Given the description of an element on the screen output the (x, y) to click on. 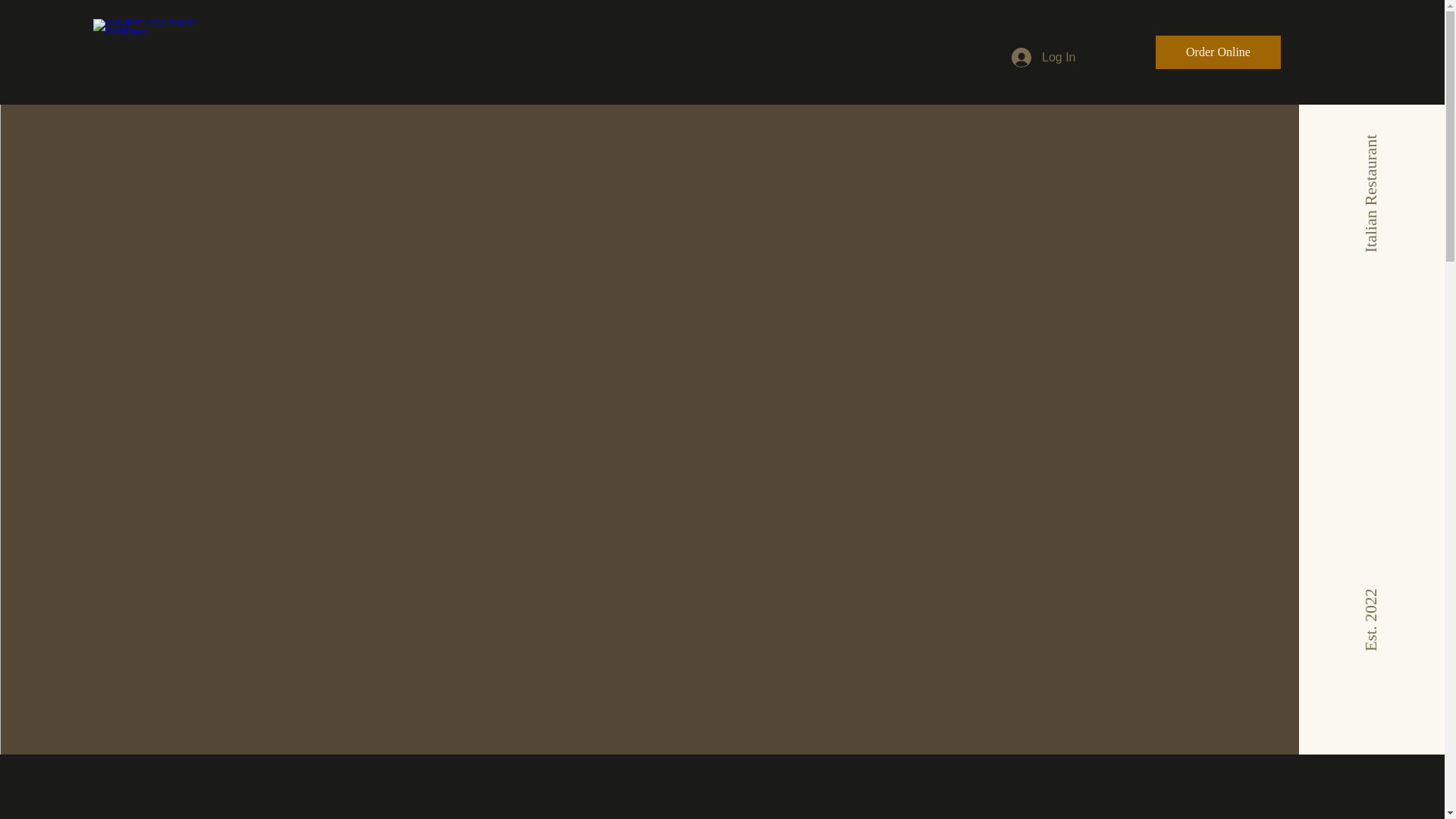
Log In (1043, 57)
Order Online (1218, 52)
